Given the description of an element on the screen output the (x, y) to click on. 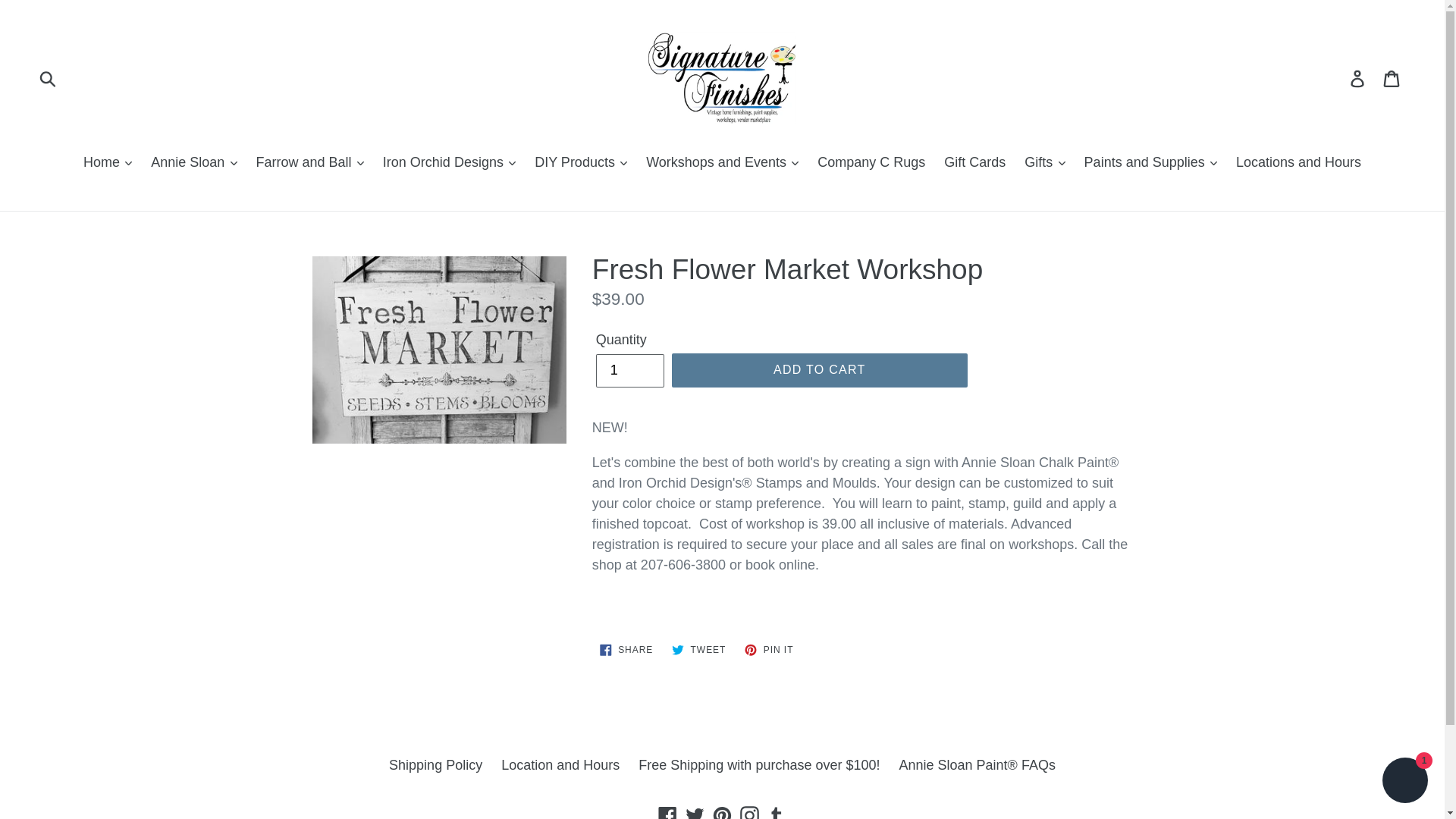
Log in (1357, 78)
Submit (48, 78)
Shopify online store chat (1404, 781)
Cart (1392, 78)
1 (629, 370)
